Given the description of an element on the screen output the (x, y) to click on. 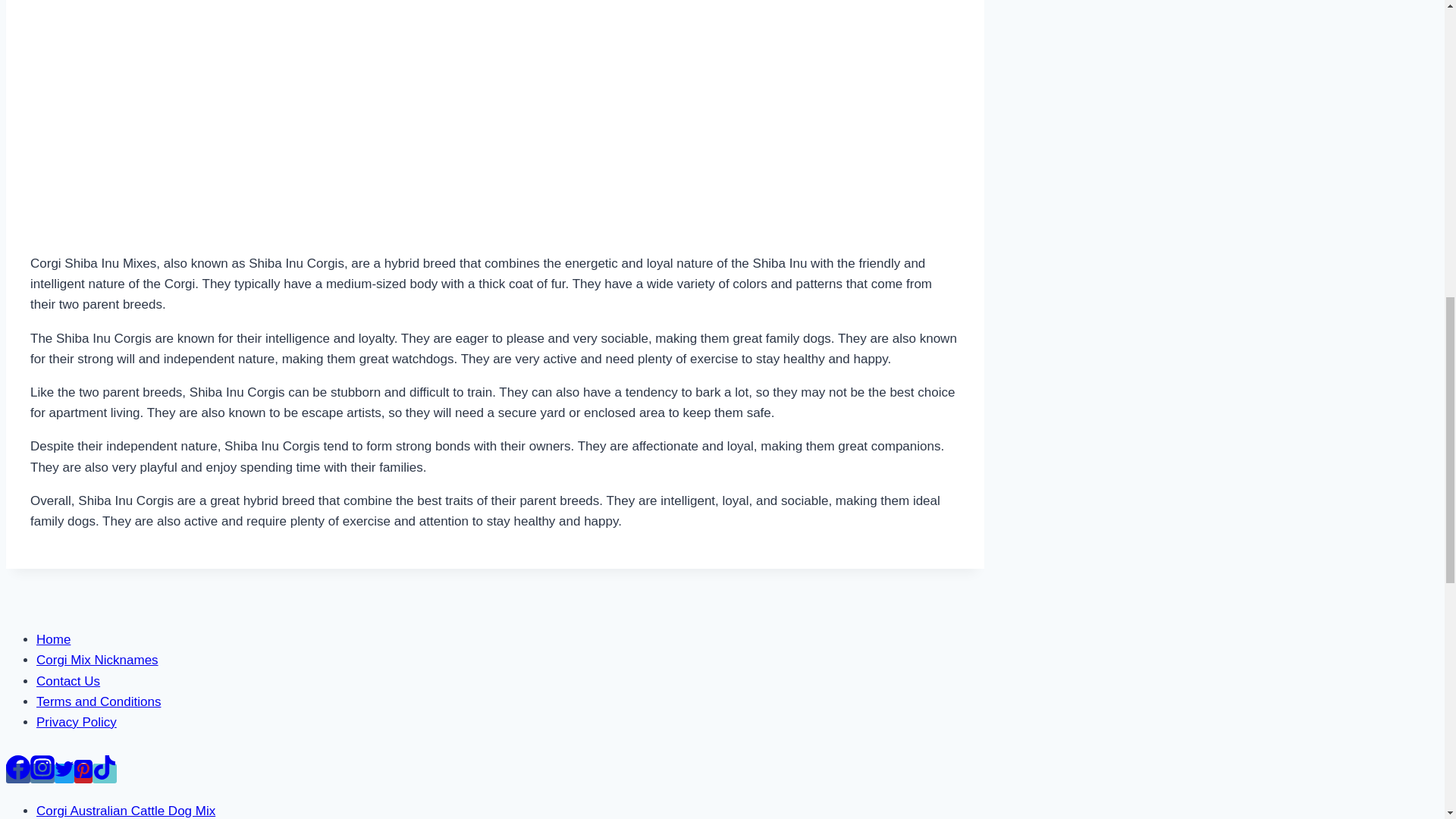
TikTok (104, 767)
Twitter (64, 768)
Instagram (42, 767)
Twitter (64, 772)
Instagram (42, 772)
Corgi Australian Cattle Dog Mix (125, 810)
Facebook (17, 772)
Home (52, 639)
Terms and Conditions (98, 701)
Facebook (17, 767)
Pinterest (83, 772)
TikTok (104, 772)
Contact Us (68, 681)
Privacy Policy (76, 721)
Corgi Mix Nicknames (97, 659)
